Given the description of an element on the screen output the (x, y) to click on. 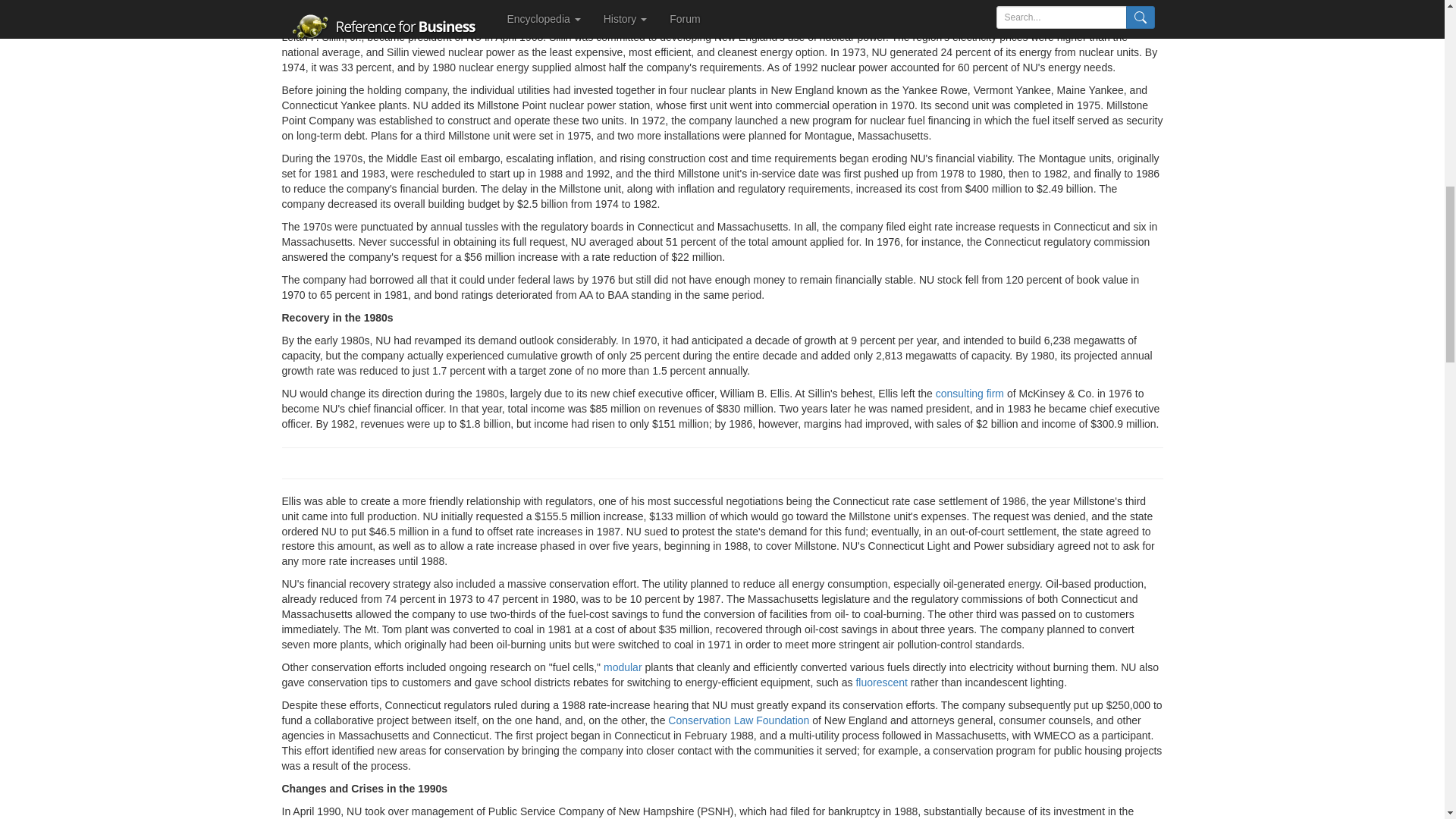
Conservation Law Foundation (738, 720)
fluorescent (881, 682)
View 'fluorescent' definition from Wikipedia (881, 682)
View 'conservation law foundation' definition from Wikipedia (738, 720)
View 'consulting firm' definition from Wikipedia (970, 393)
consulting firm (970, 393)
View 'modular' definition from Wikipedia (623, 666)
modular (623, 666)
